Given the description of an element on the screen output the (x, y) to click on. 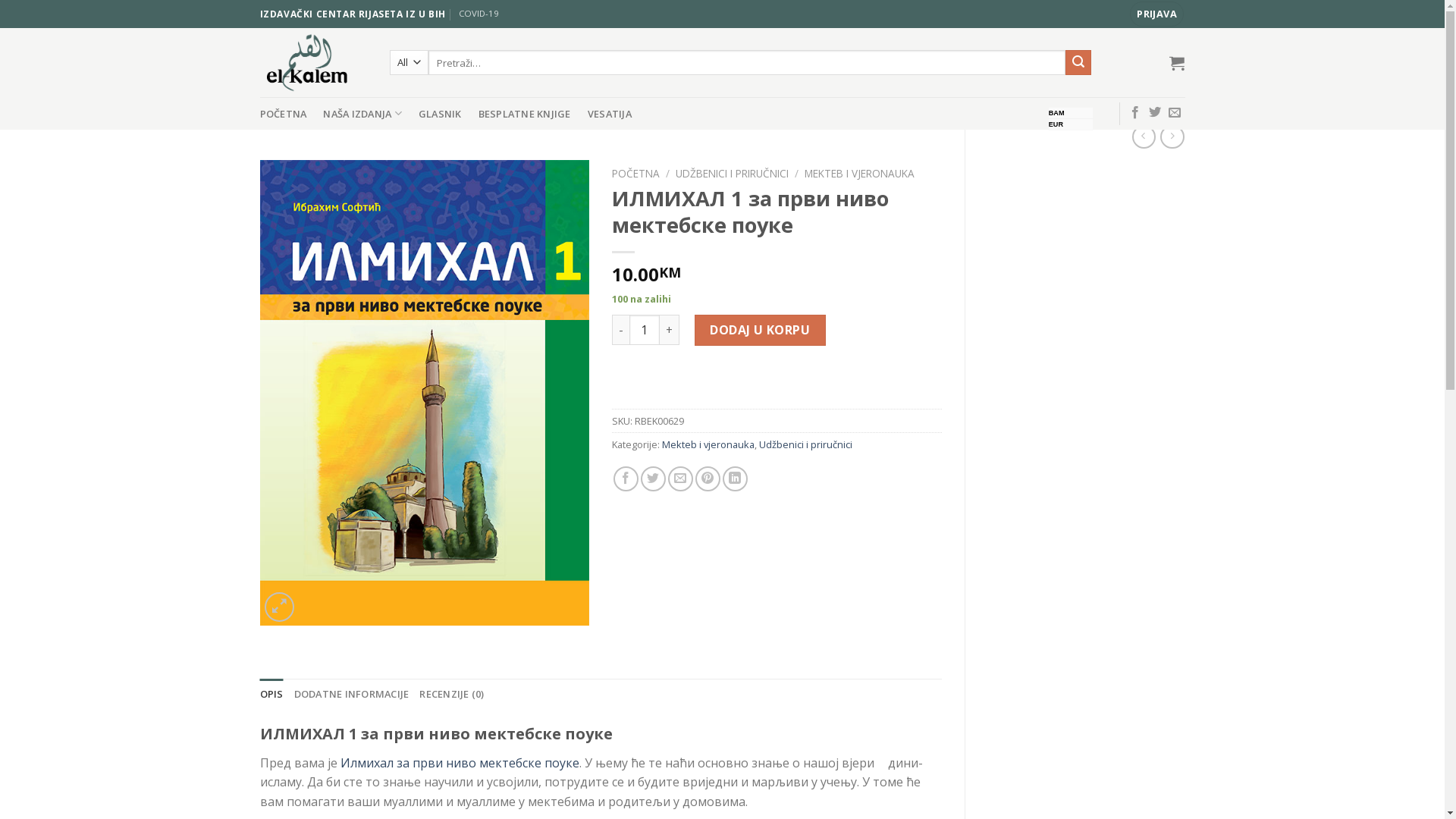
Zoom Element type: hover (279, 606)
Korpa Element type: hover (1176, 61)
Send us an email Element type: hover (1174, 112)
COVID-19 Element type: text (478, 13)
Share on Twitter Element type: hover (652, 478)
DODAJ U KORPU Element type: text (759, 329)
Follow on Twitter Element type: hover (1154, 112)
Follow on Facebook Element type: hover (1135, 112)
Email to a Friend Element type: hover (680, 478)
MEKTEB I VJERONAUKA Element type: text (859, 173)
GLASNIK Element type: text (439, 113)
OPIS Element type: text (270, 693)
Share on Facebook Element type: hover (625, 478)
Pin on Pinterest Element type: hover (707, 478)
Share on LinkedIn Element type: hover (734, 478)
BESPLATNE KNJIGE Element type: text (524, 113)
Mekteb i vjeronauka Element type: text (708, 444)
VESATIJA Element type: text (609, 113)
RECENZIJE (0) Element type: text (451, 693)
DODATNE INFORMACIJE Element type: text (351, 693)
PRIJAVA Element type: text (1156, 13)
Skip to content Element type: text (0, 0)
